Given the description of an element on the screen output the (x, y) to click on. 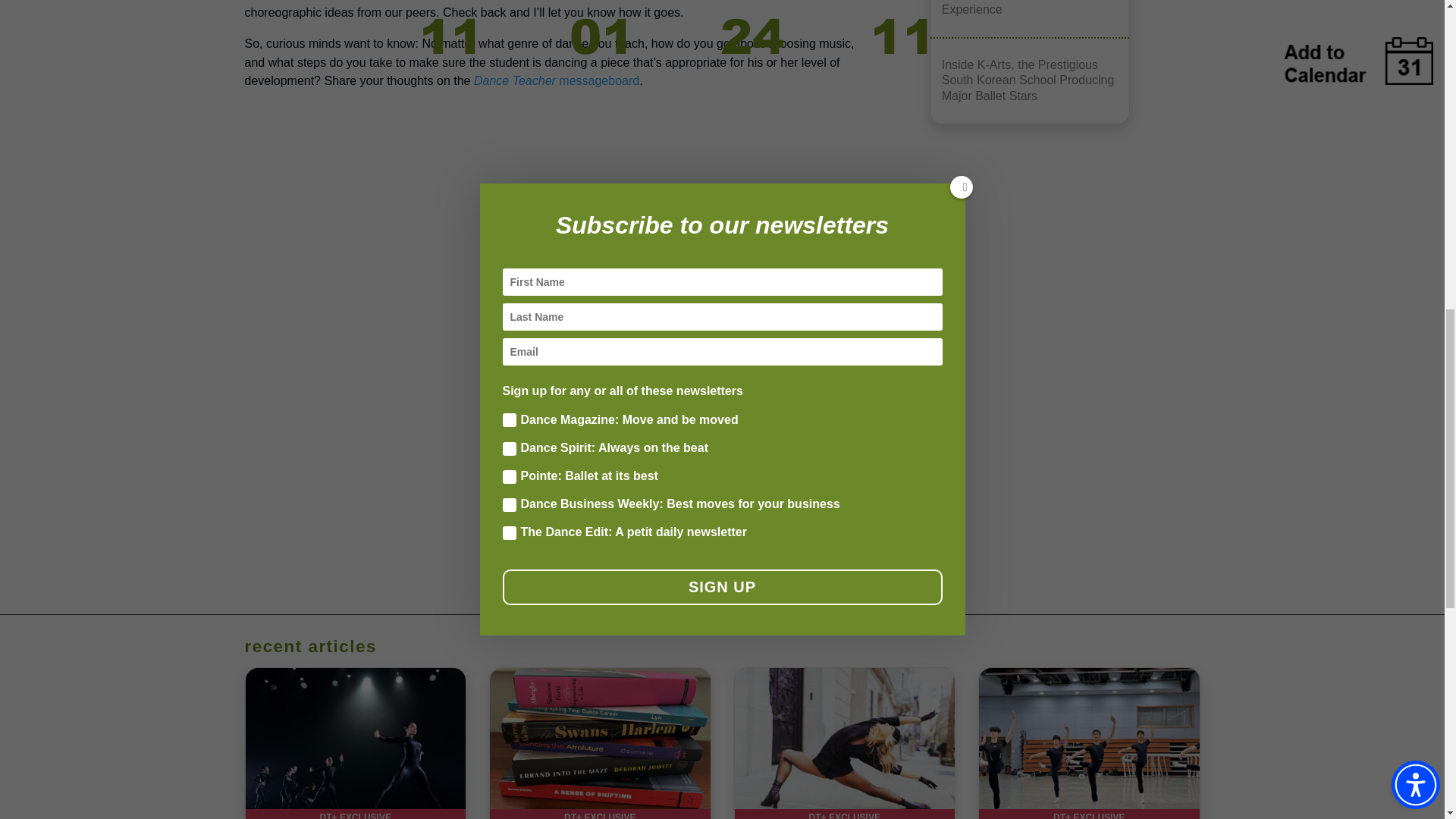
DT messageboards: ballet choreography (556, 80)
